Given the description of an element on the screen output the (x, y) to click on. 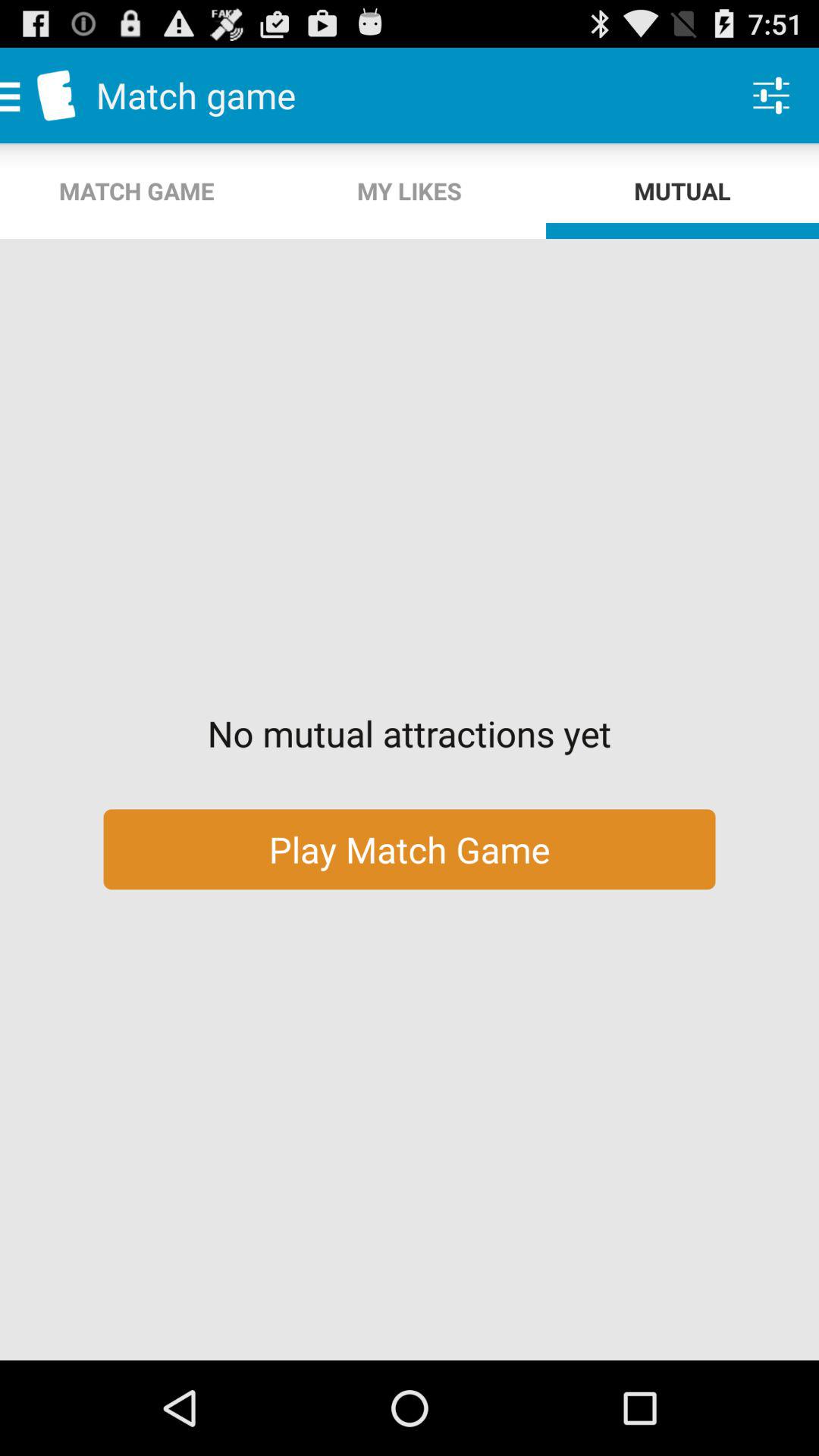
scroll to the my likes (409, 190)
